Given the description of an element on the screen output the (x, y) to click on. 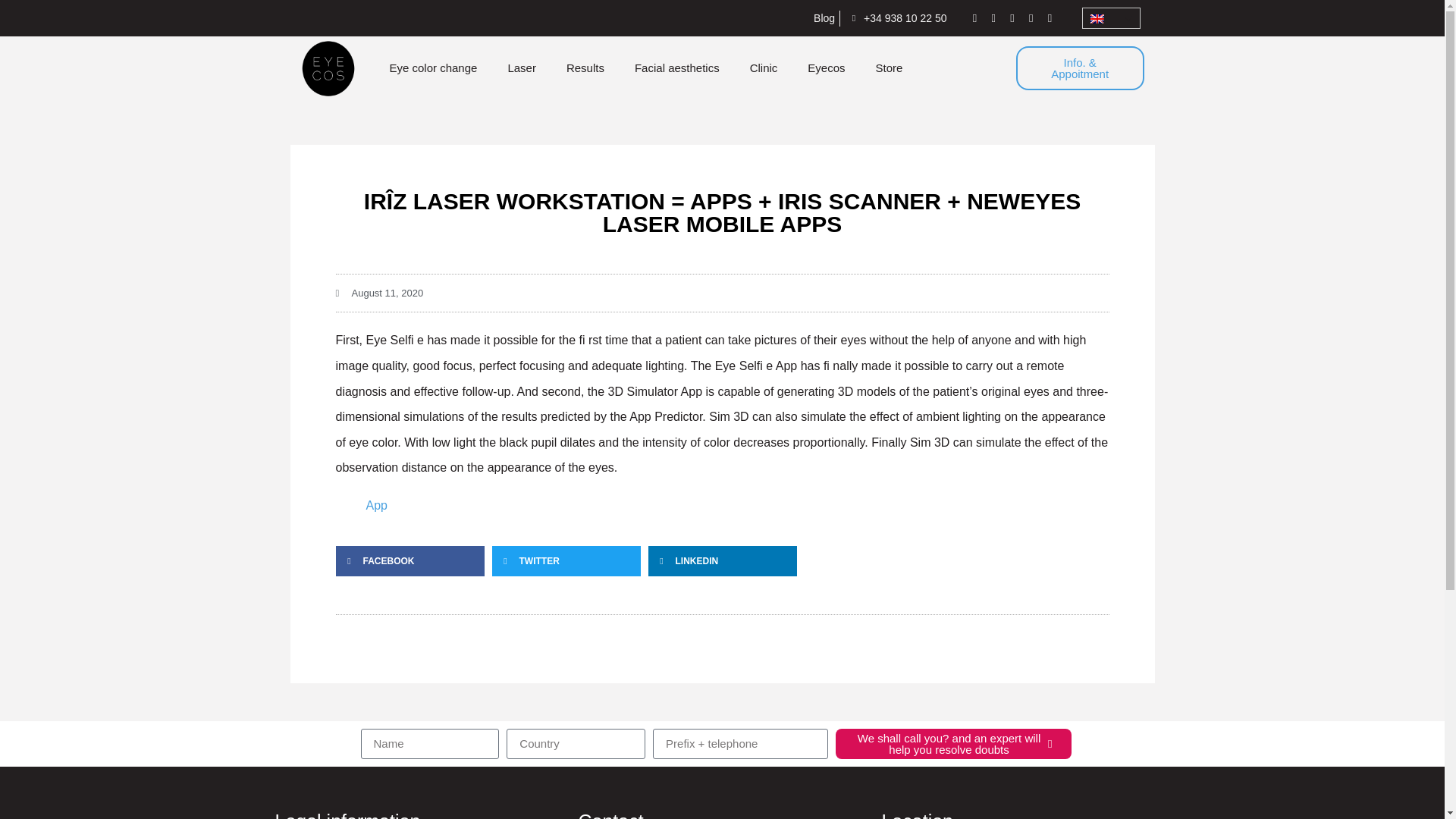
Facial aesthetics (677, 67)
Eye color change (433, 67)
Eyecos (826, 67)
Laser (521, 67)
Clinic (764, 67)
Blog (819, 18)
Results (585, 67)
Store (889, 67)
